Given the description of an element on the screen output the (x, y) to click on. 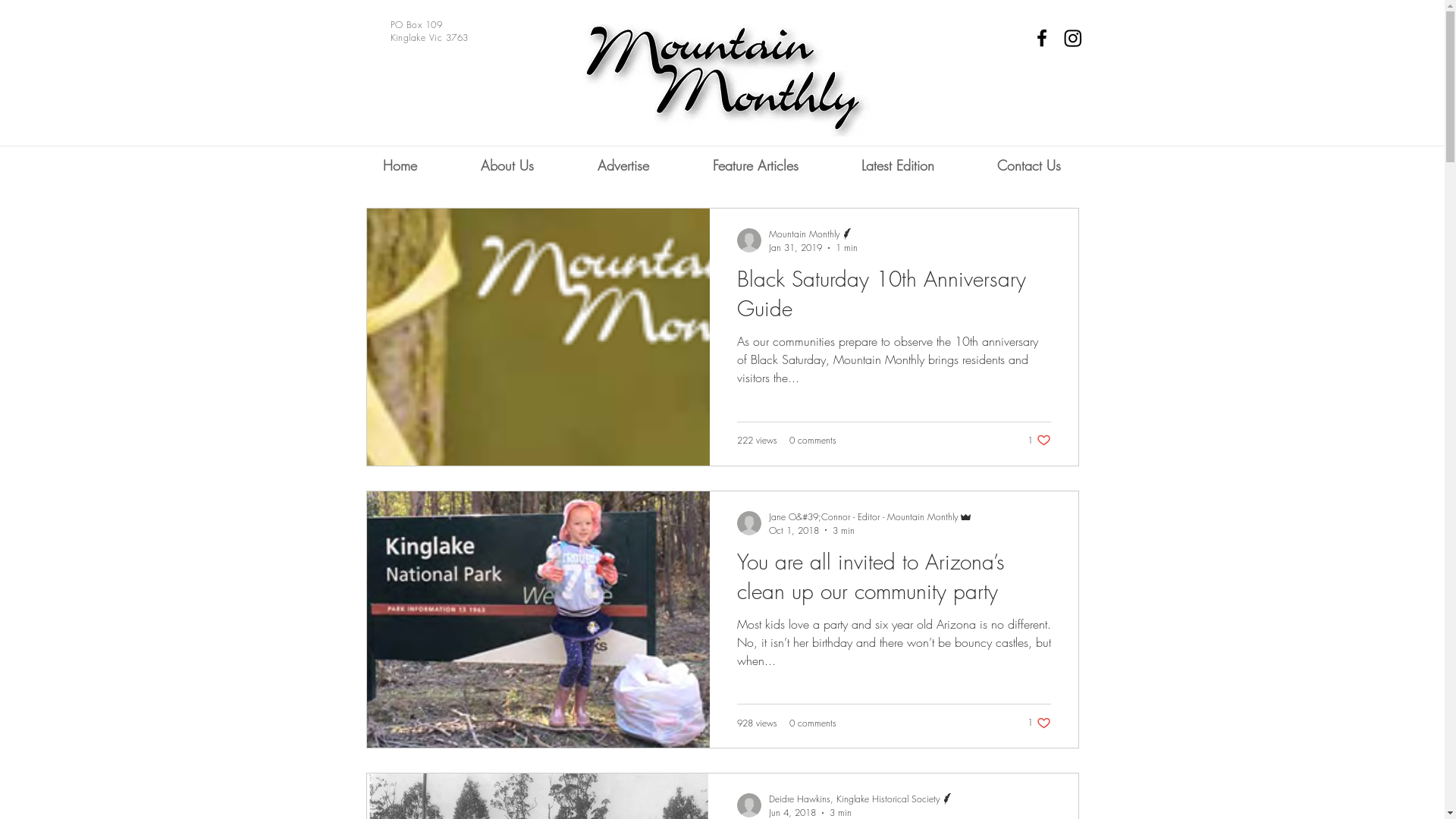
1 like. Post not marked as liked
1 Element type: text (1038, 722)
0 comments Element type: text (811, 439)
Advertise Element type: text (622, 165)
Latest Edition Element type: text (897, 165)
1 like. Post not marked as liked
1 Element type: text (1038, 440)
About Us Element type: text (506, 165)
0 comments Element type: text (811, 721)
Black Saturday 10th Anniversary Guide Element type: text (894, 297)
Feature Articles Element type: text (755, 165)
Contact Us Element type: text (1029, 165)
Home Element type: text (399, 165)
